Given the description of an element on the screen output the (x, y) to click on. 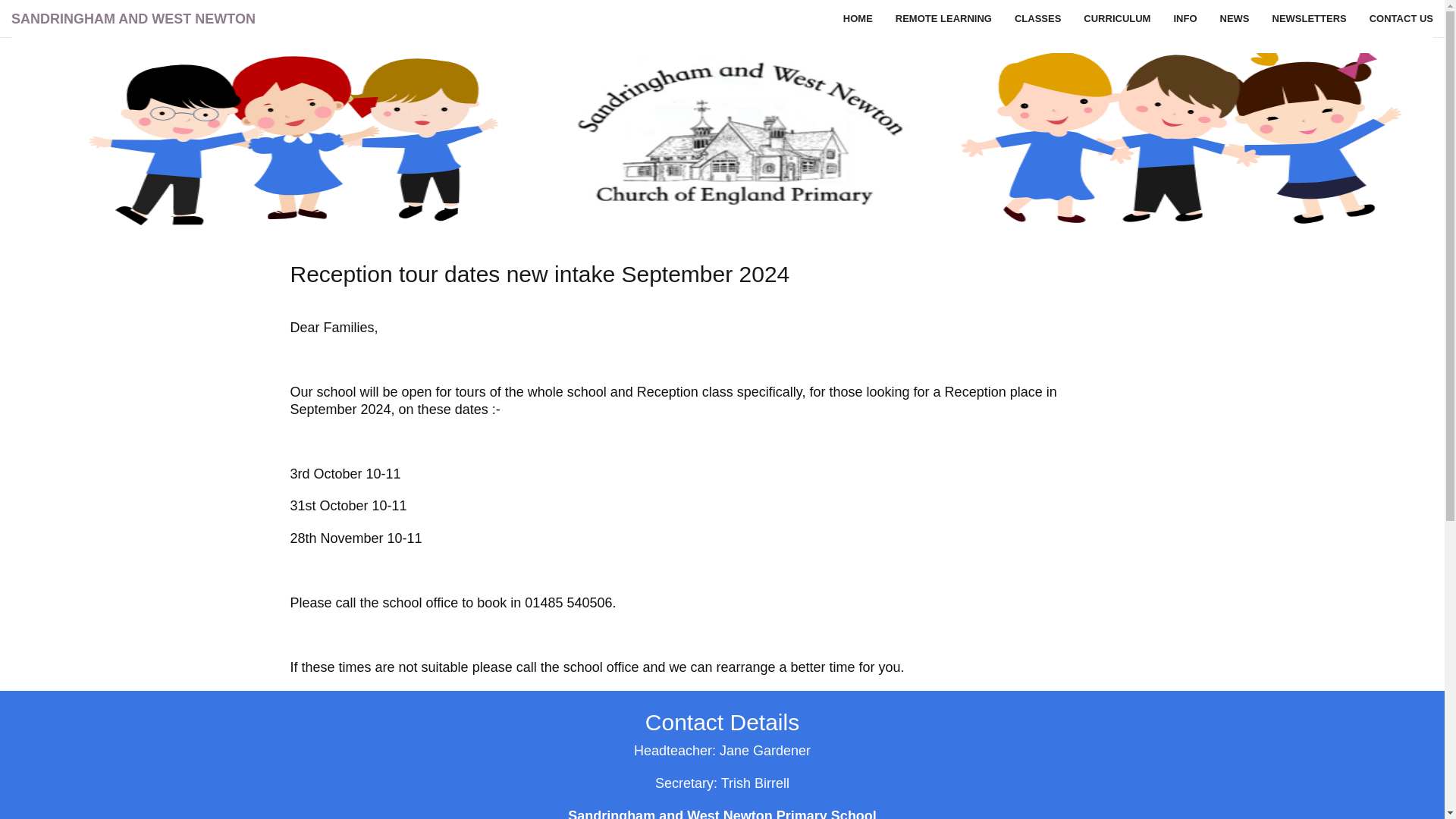
INFO (1184, 18)
SANDRINGHAM AND WEST NEWTON (133, 18)
REMOTE LEARNING (943, 18)
NEWSLETTERS (1308, 18)
HOME (857, 18)
SANDRINGHAM AND WEST NEWTON (133, 18)
CURRICULUM (1116, 18)
NEWS (1234, 18)
CLASSES (1037, 18)
